Given the description of an element on the screen output the (x, y) to click on. 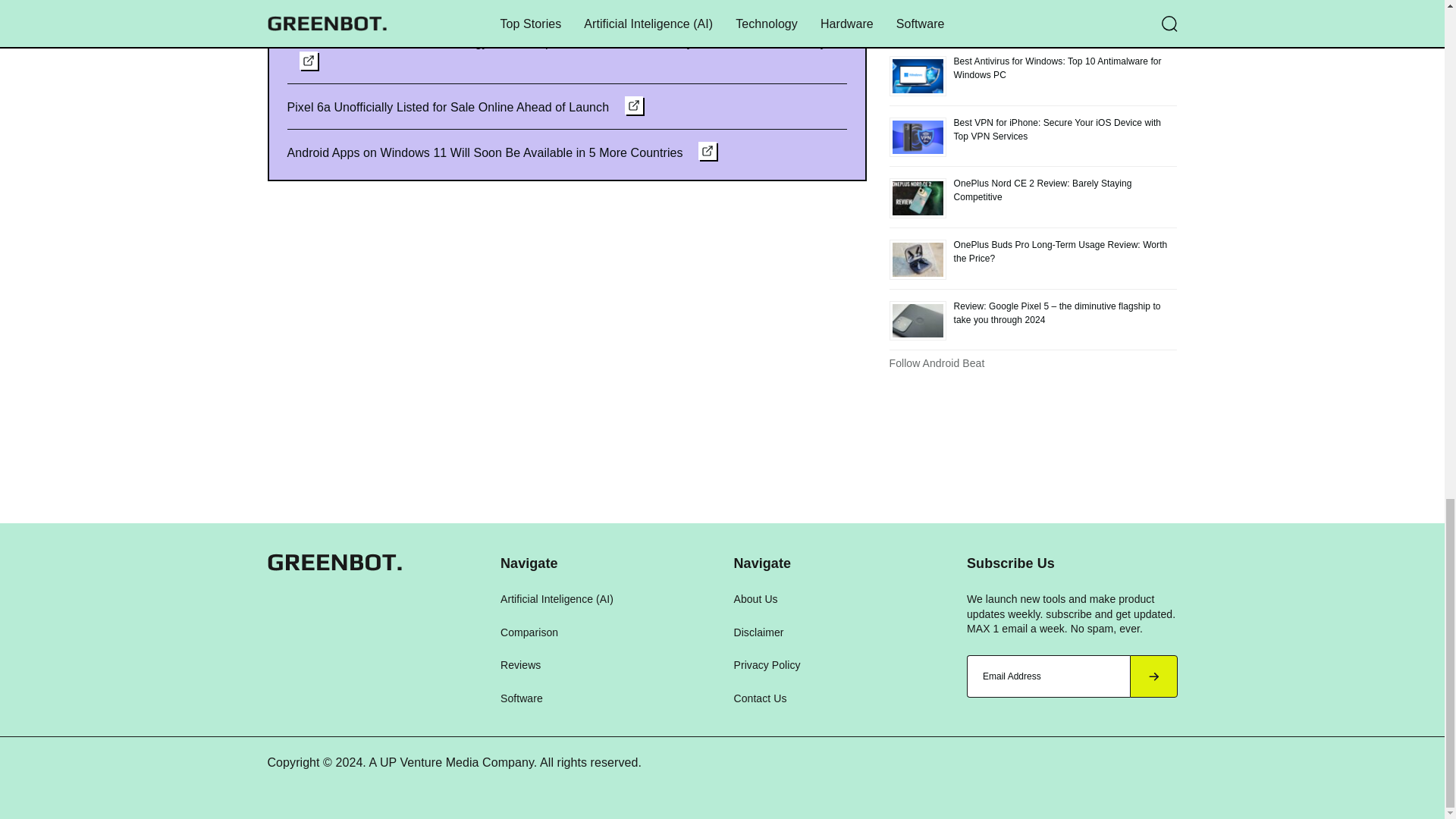
Pixel 6a Unofficially Listed for Sale Online Ahead of Launch (464, 105)
